Given the description of an element on the screen output the (x, y) to click on. 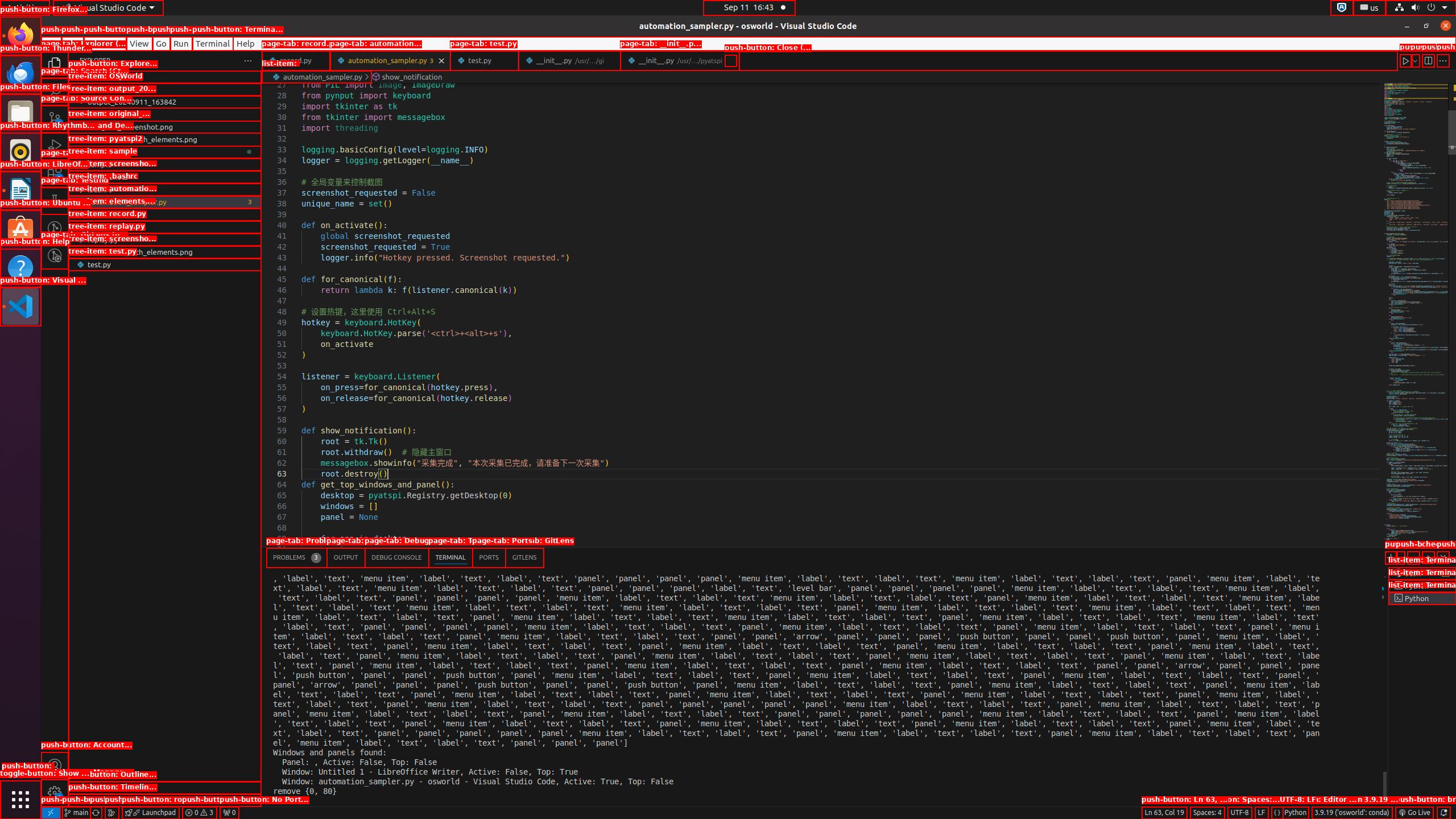
Ln 63, Col 19 Element type: push-button (1163, 812)
screenshots Element type: tree-item (164, 176)
Warnings: 3 Element type: push-button (199, 812)
Source Control (Ctrl+Shift+G G) - 1 pending changes Element type: page-tab (54, 118)
Close (Ctrl+W) Element type: push-button (730, 60)
